Given the description of an element on the screen output the (x, y) to click on. 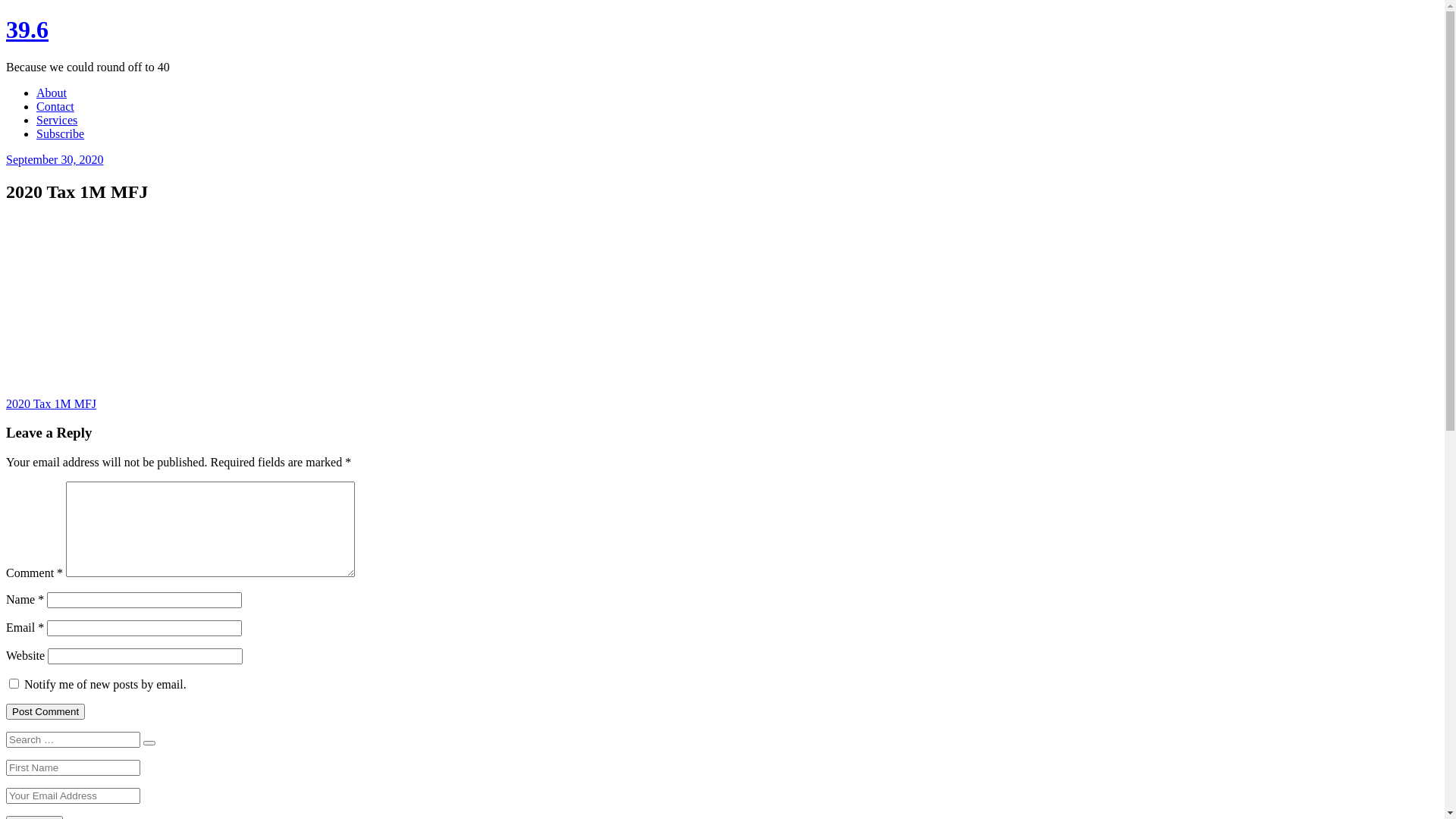
Services Element type: text (56, 119)
Post Comment Element type: text (45, 711)
2020 Tax 1M MFJ Element type: text (51, 403)
Search Element type: text (149, 742)
39.6 Element type: text (27, 29)
About Element type: text (51, 92)
Contact Element type: text (55, 106)
September 30, 2020 Element type: text (54, 159)
Subscribe Element type: text (60, 133)
